Given the description of an element on the screen output the (x, y) to click on. 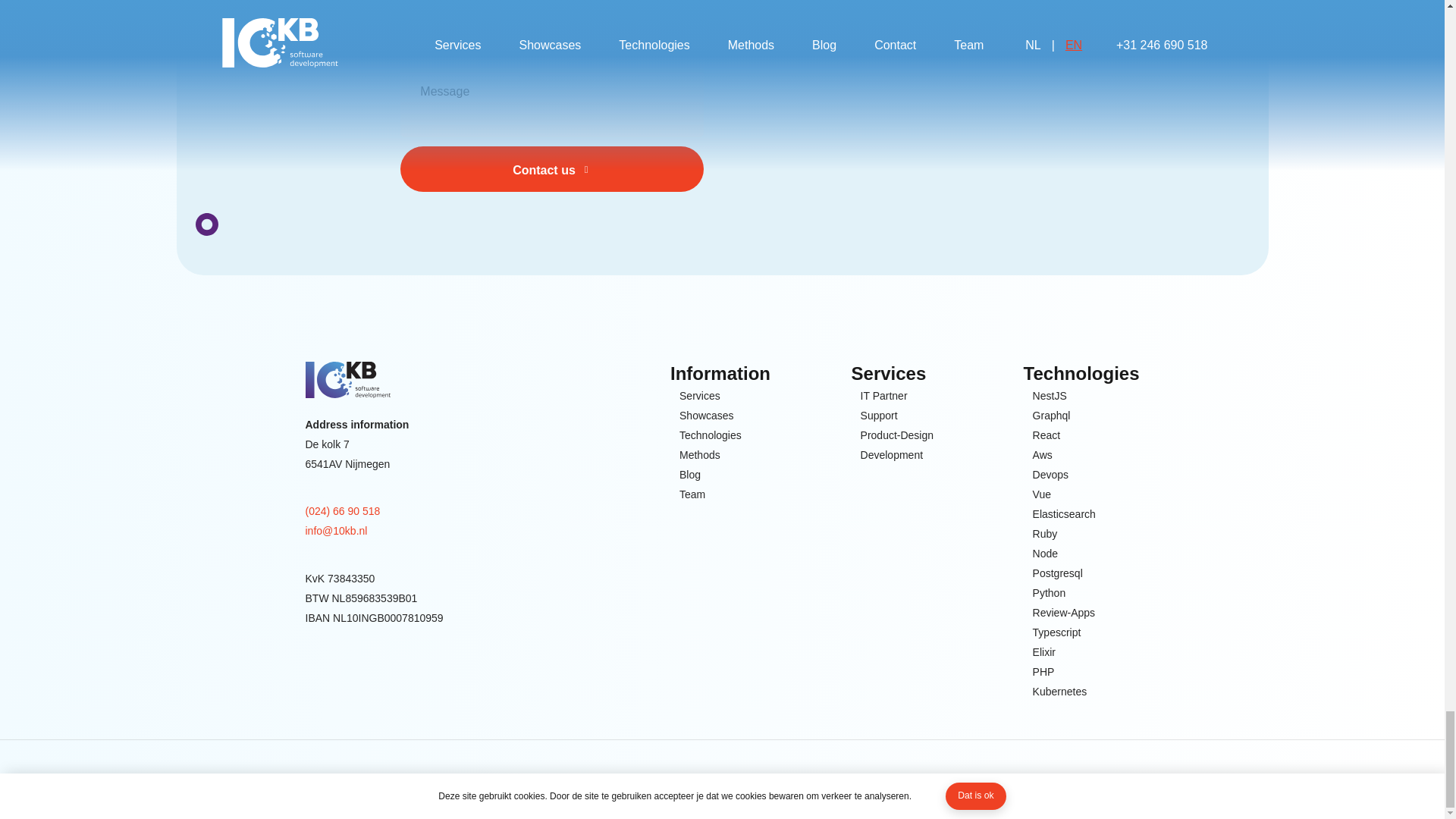
Showcases (706, 415)
IT-Partner (883, 395)
Showcases (706, 415)
Team (691, 494)
Technologies (710, 435)
Methods (699, 455)
Services (699, 395)
Blog (689, 474)
Contact us (551, 168)
Support (879, 415)
Services (699, 395)
